Given the description of an element on the screen output the (x, y) to click on. 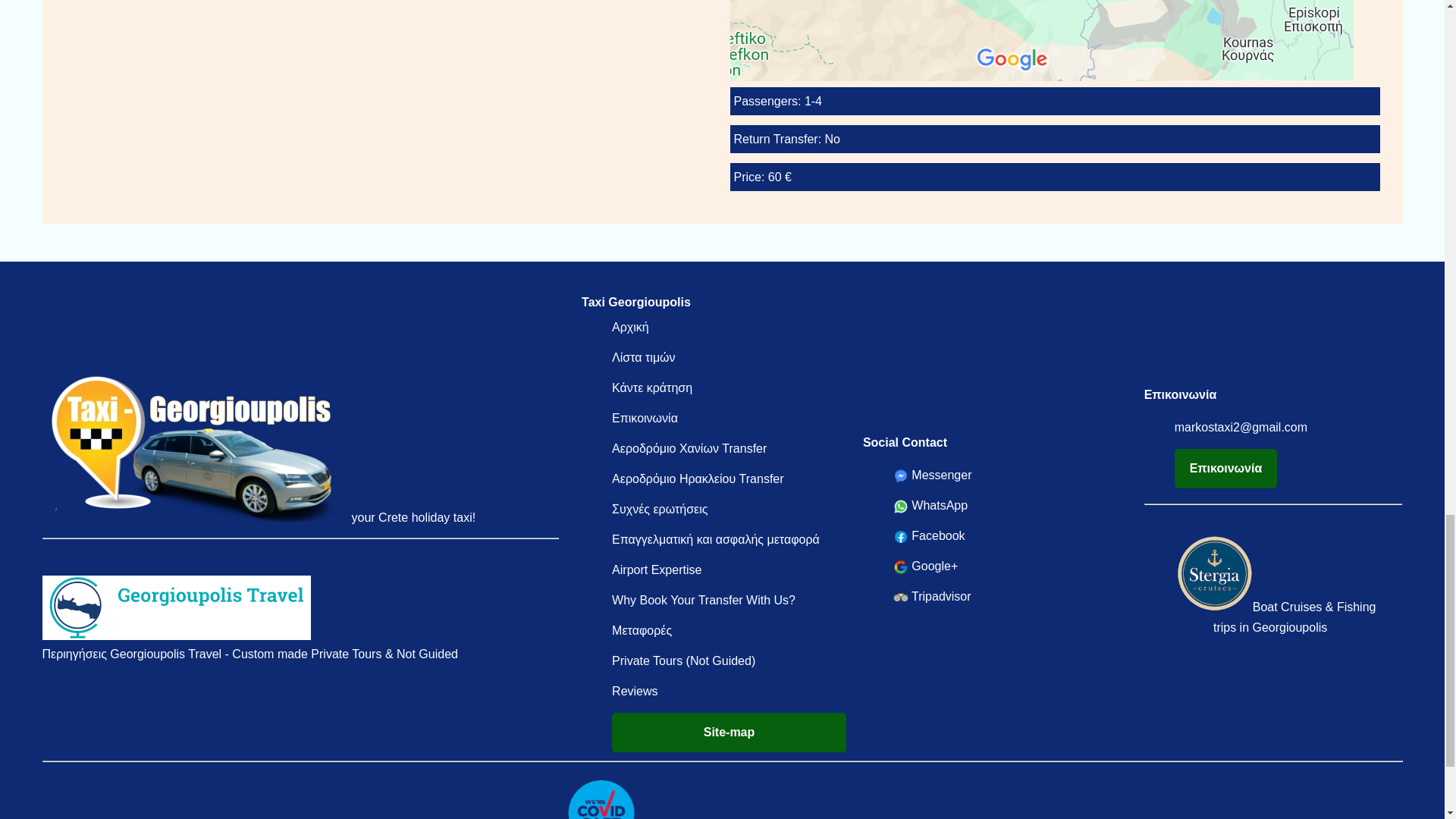
your Crete holiday taxi! (262, 517)
